Given the description of an element on the screen output the (x, y) to click on. 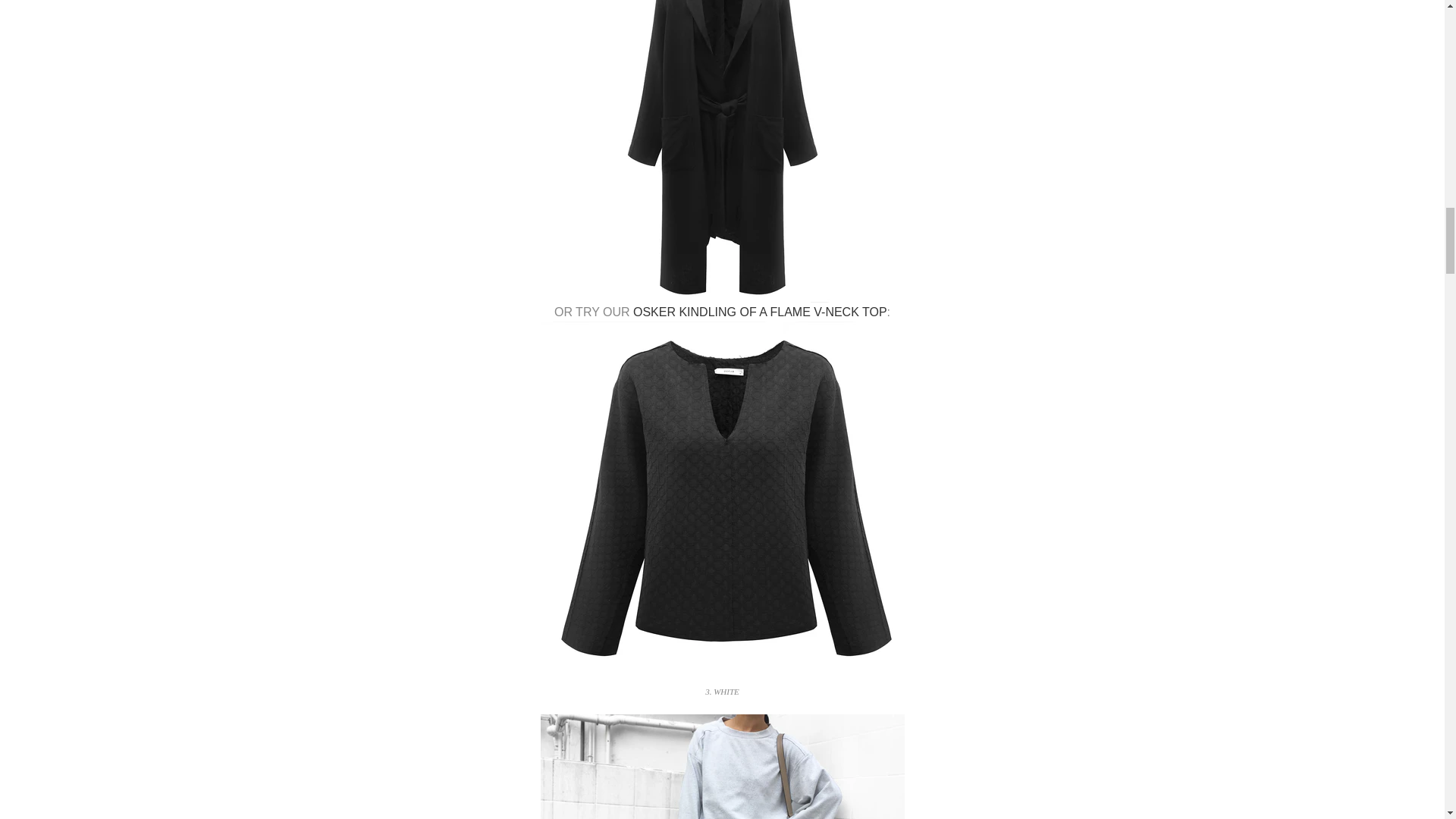
OSKER KINDLING OF A FLAME V-NECK TOP (759, 311)
